Given the description of an element on the screen output the (x, y) to click on. 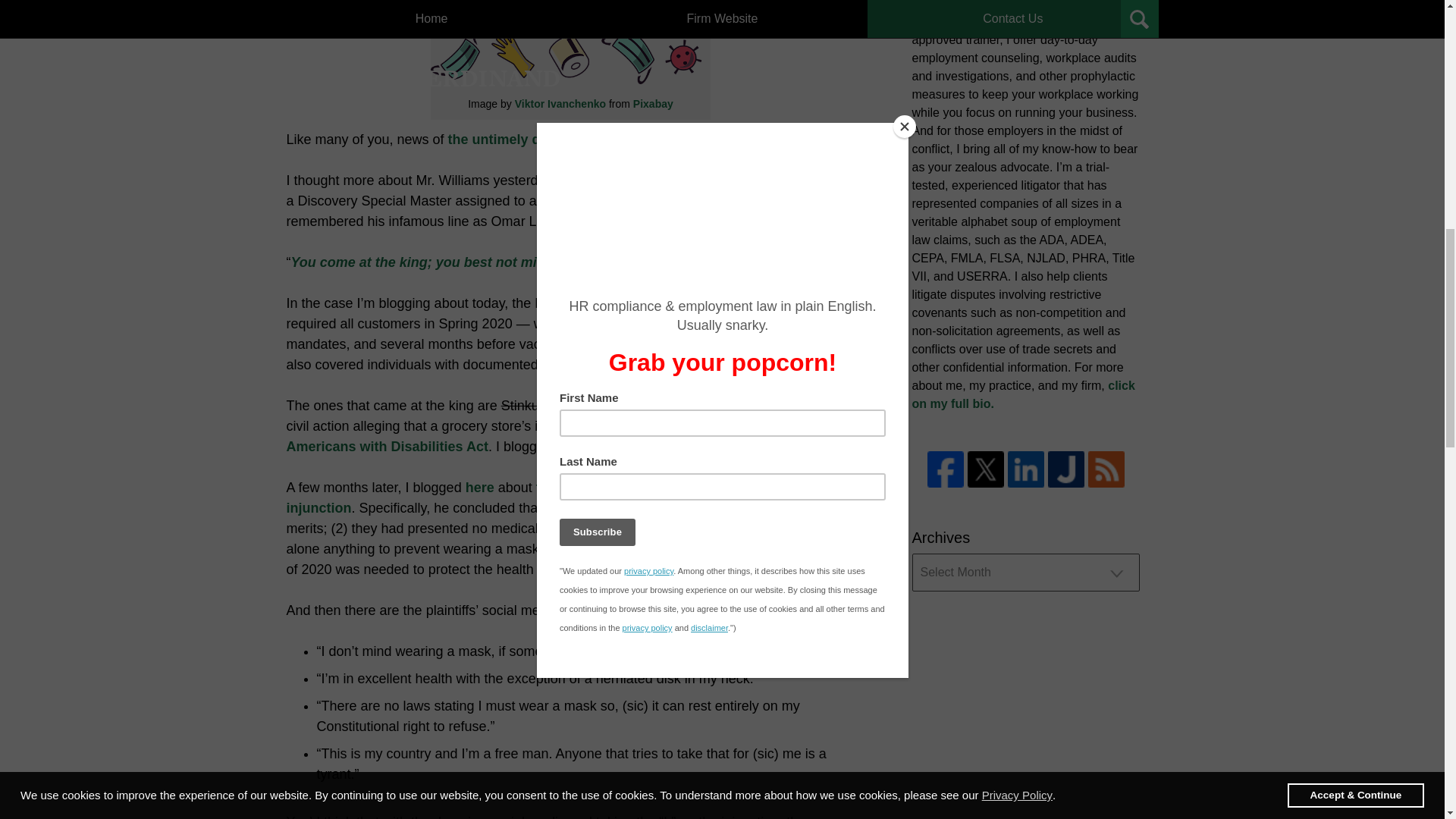
Feed (1105, 469)
LinkedIn (1025, 469)
the untimely death of Michael K. Williams (582, 139)
here (759, 446)
You come at the king; you best not miss. (423, 262)
Viktor Ivanchenko (560, 103)
Americans with Disabilities Act (386, 446)
click on my full bio. (1022, 394)
Facebook (944, 469)
Twitter (986, 469)
here (480, 487)
Pixabay (652, 103)
Justia (1066, 469)
